Given the description of an element on the screen output the (x, y) to click on. 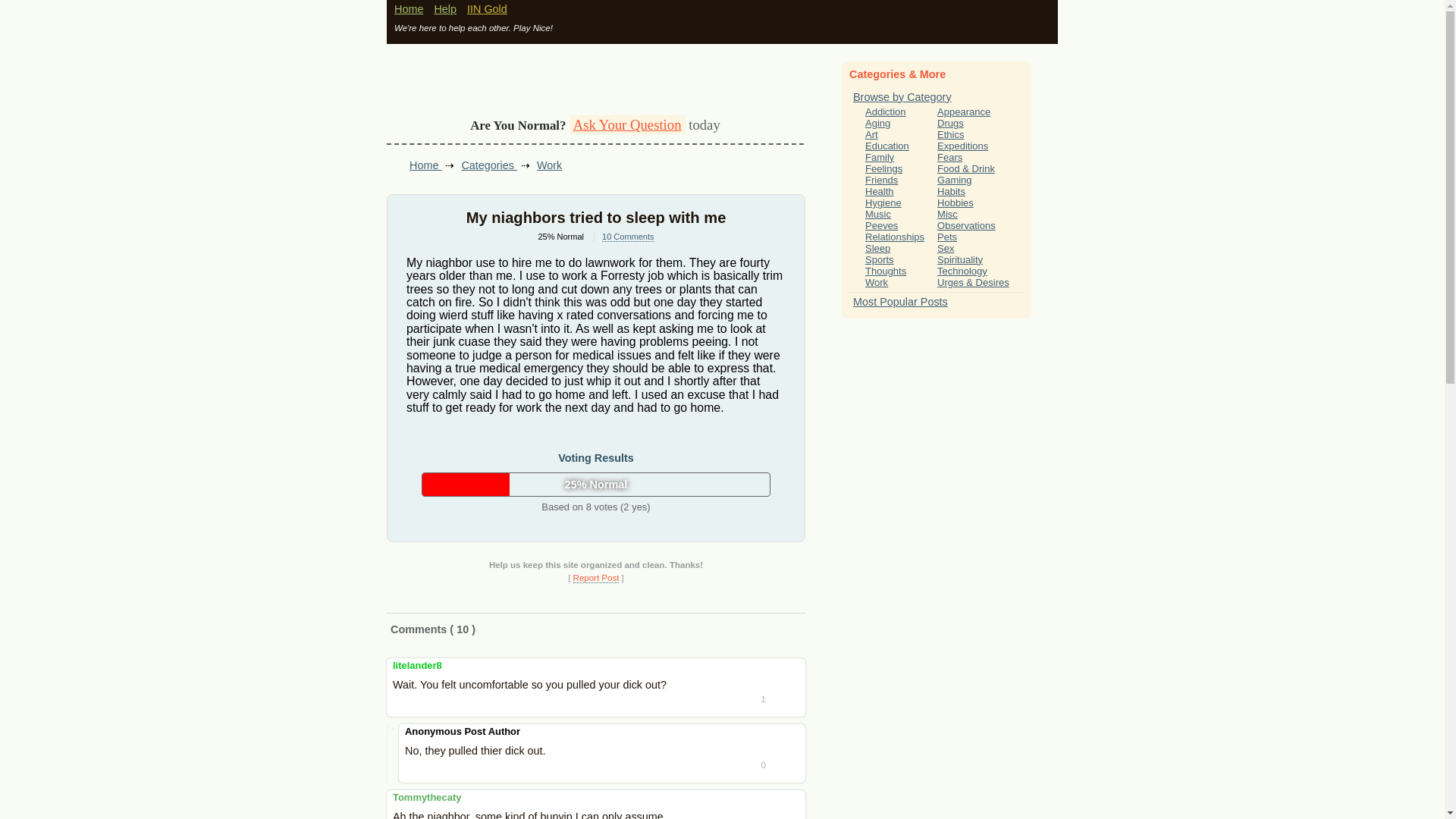
Categories (488, 164)
IIN Gold (486, 9)
Home (425, 164)
Joined 5 years ago (417, 665)
Ask Your Question (627, 124)
Joined 3 years ago (427, 797)
10 Comments (627, 236)
Work (549, 164)
Based on 8 votes (561, 235)
Report Post (596, 578)
Home (408, 9)
Help (445, 9)
Abusive?  Off topic?  Spam?  Disruptive?  Report it! (596, 578)
